Given the description of an element on the screen output the (x, y) to click on. 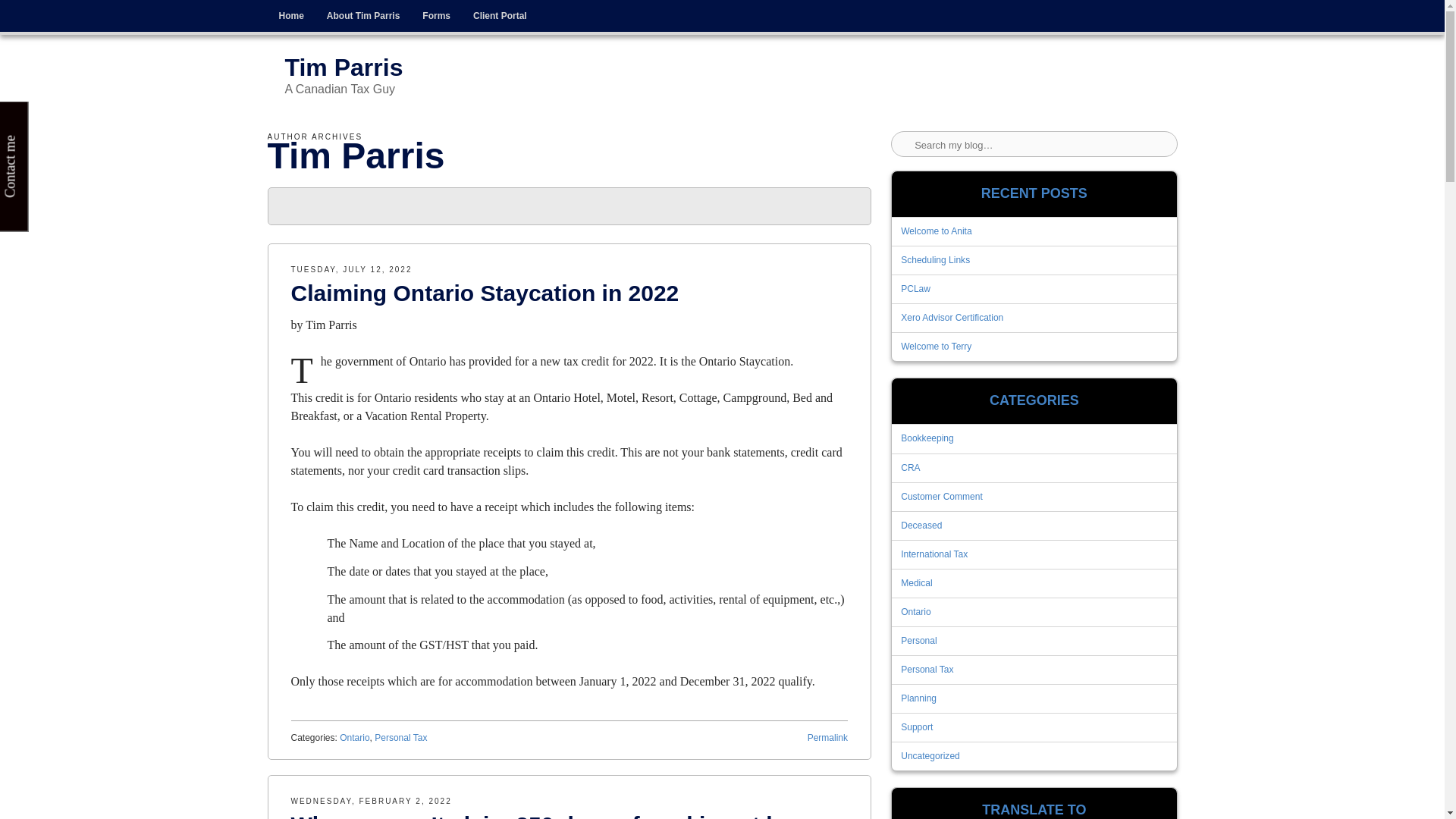
Skip to content (299, 10)
Client Portal (499, 15)
Tim Parris (330, 324)
Skip to content (299, 10)
Ontario (354, 737)
Forms (435, 15)
Tim Parris (355, 155)
View all posts by Tim Parris (330, 324)
Tim Parris (344, 67)
About Tim Parris (362, 15)
